Given the description of an element on the screen output the (x, y) to click on. 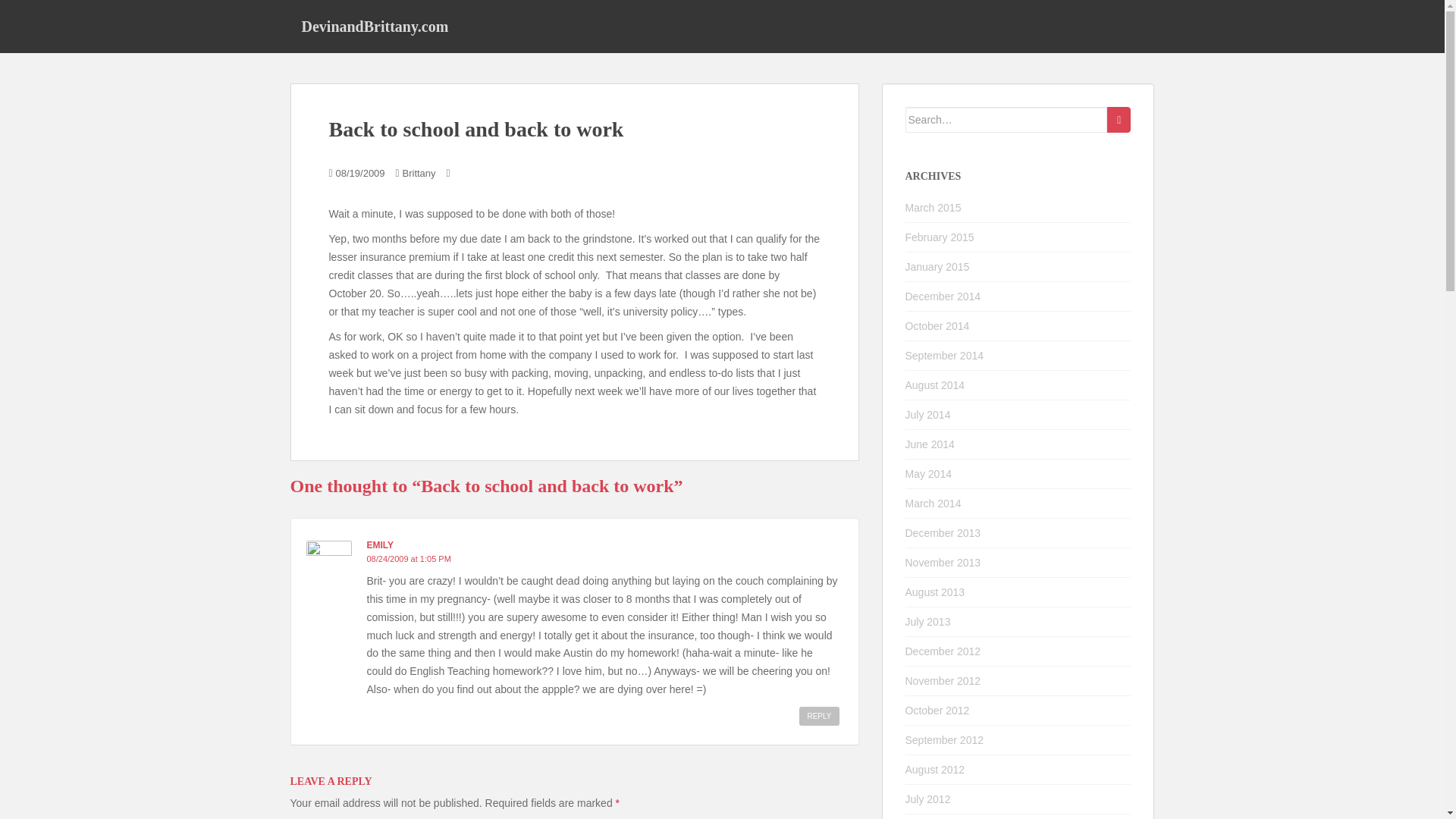
May 2014 (928, 473)
DevinandBrittany.com (374, 26)
Search (1118, 119)
September 2014 (944, 355)
March 2015 (932, 207)
July 2014 (927, 414)
Search for: (1006, 119)
December 2012 (943, 651)
August 2013 (935, 592)
December 2014 (943, 296)
